Given the description of an element on the screen output the (x, y) to click on. 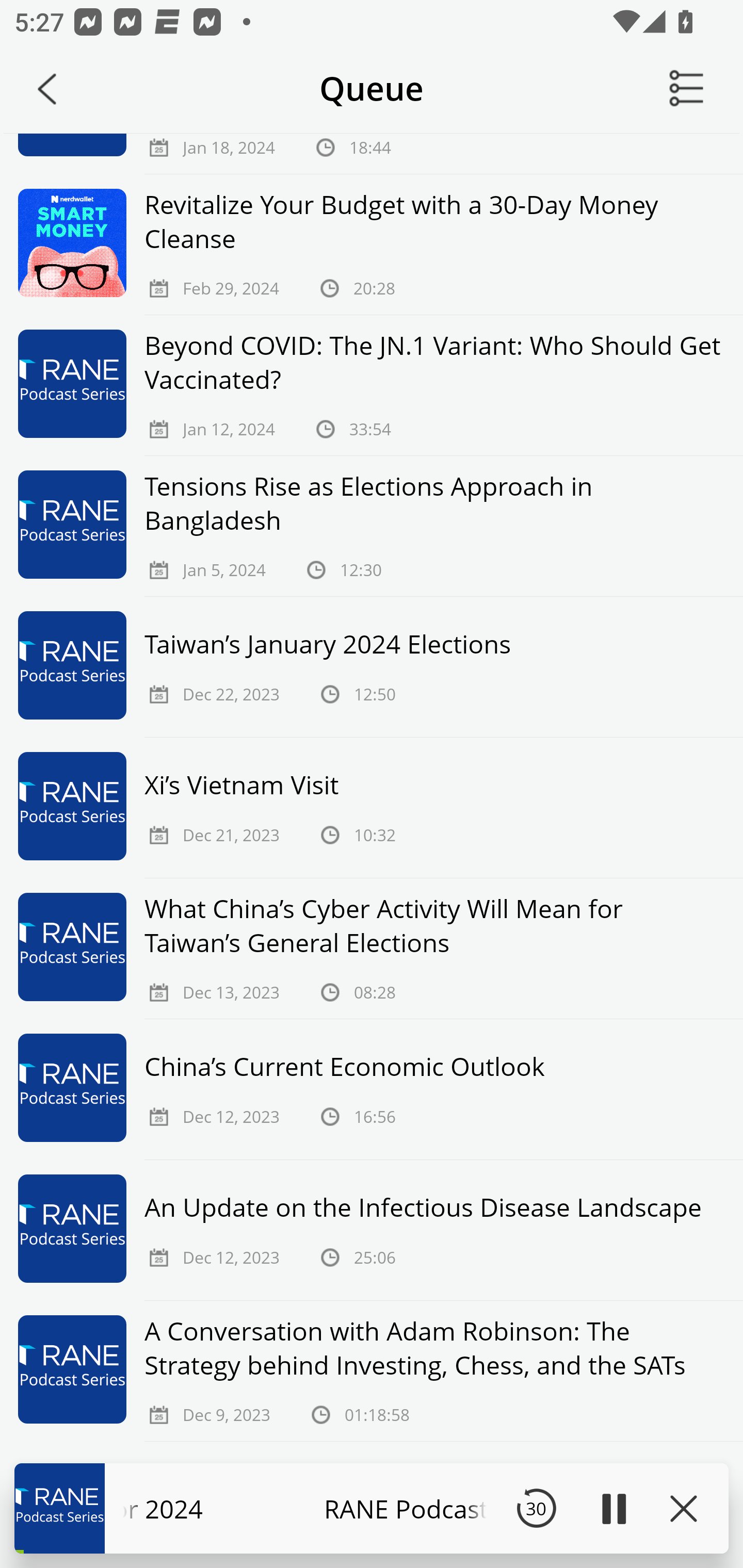
Back (46, 88)
Taiwan’s January 2024 Elections Dec 22, 2023 12:50 (371, 666)
Xi’s Vietnam Visit Dec 21, 2023 10:32 (371, 807)
Play (613, 1507)
30 Seek Backward (536, 1508)
